Given the description of an element on the screen output the (x, y) to click on. 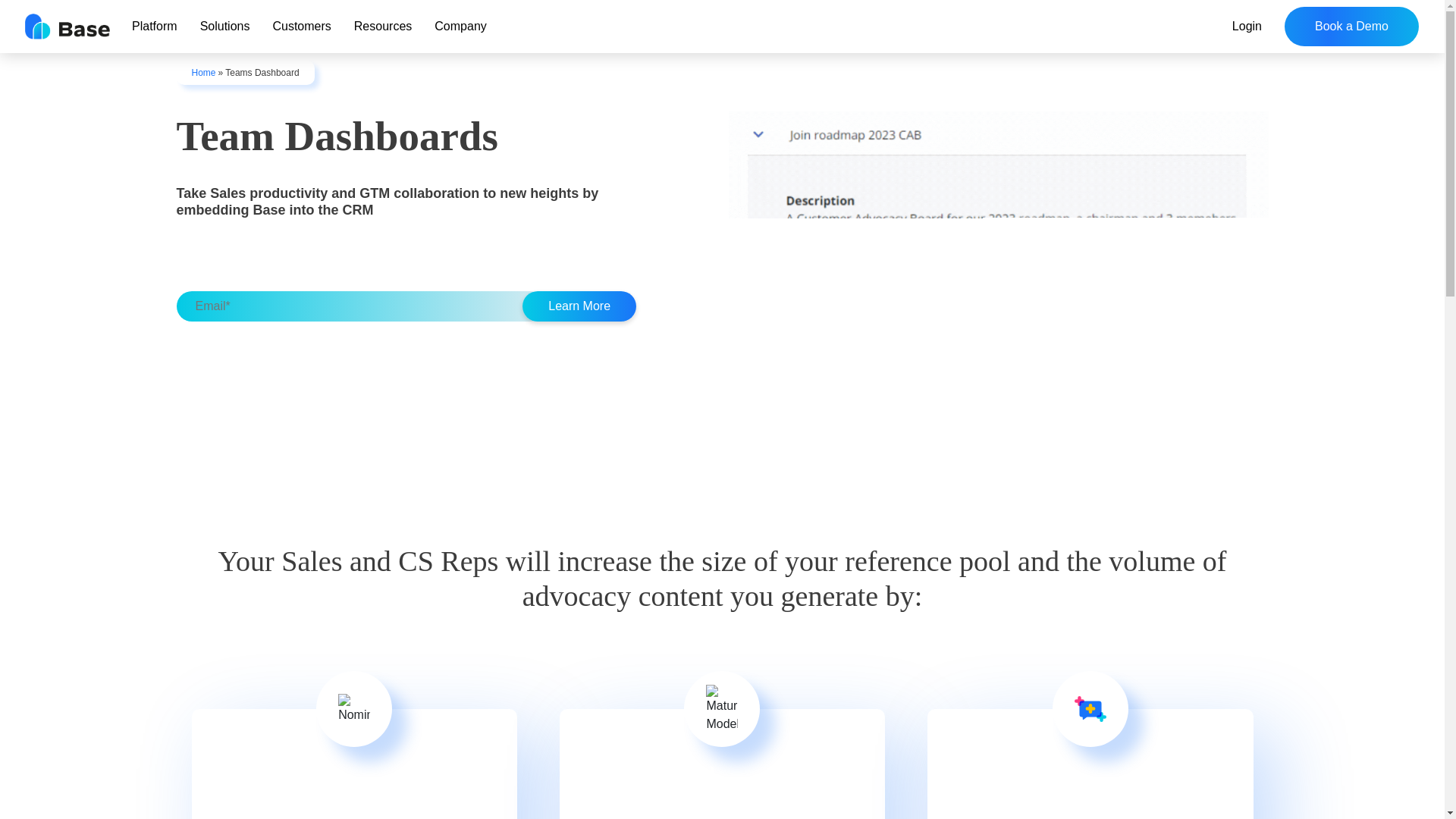
Home (202, 72)
Resources (382, 25)
Company (459, 25)
Book a Demo (1351, 25)
Learn More (579, 306)
Platform (154, 25)
Book a Demo (1351, 25)
Learn More (579, 306)
Solutions (225, 25)
Base (67, 26)
